Given the description of an element on the screen output the (x, y) to click on. 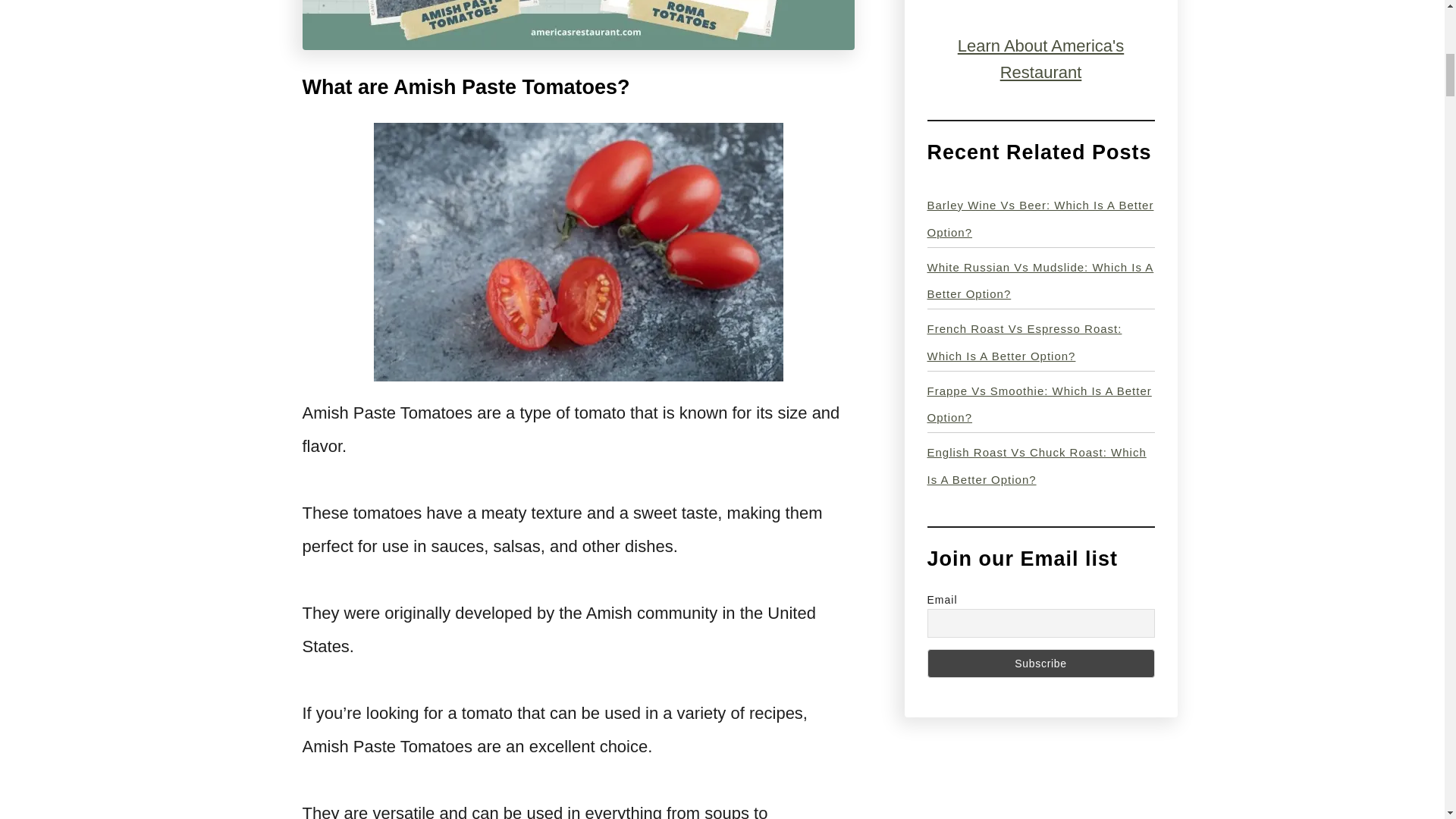
English Roast vs Chuck Roast: Which is a Better Option? (1035, 465)
French Roast vs Espresso Roast: Which is a Better Option? (1023, 342)
Barley Wine vs Beer: Which is a Better Option? (1039, 219)
White Russian vs Mudslide: Which is a Better Option? (1039, 281)
Frappe vs Smoothie: Which is a Better Option? (1038, 404)
Subscribe (1040, 663)
